Given the description of an element on the screen output the (x, y) to click on. 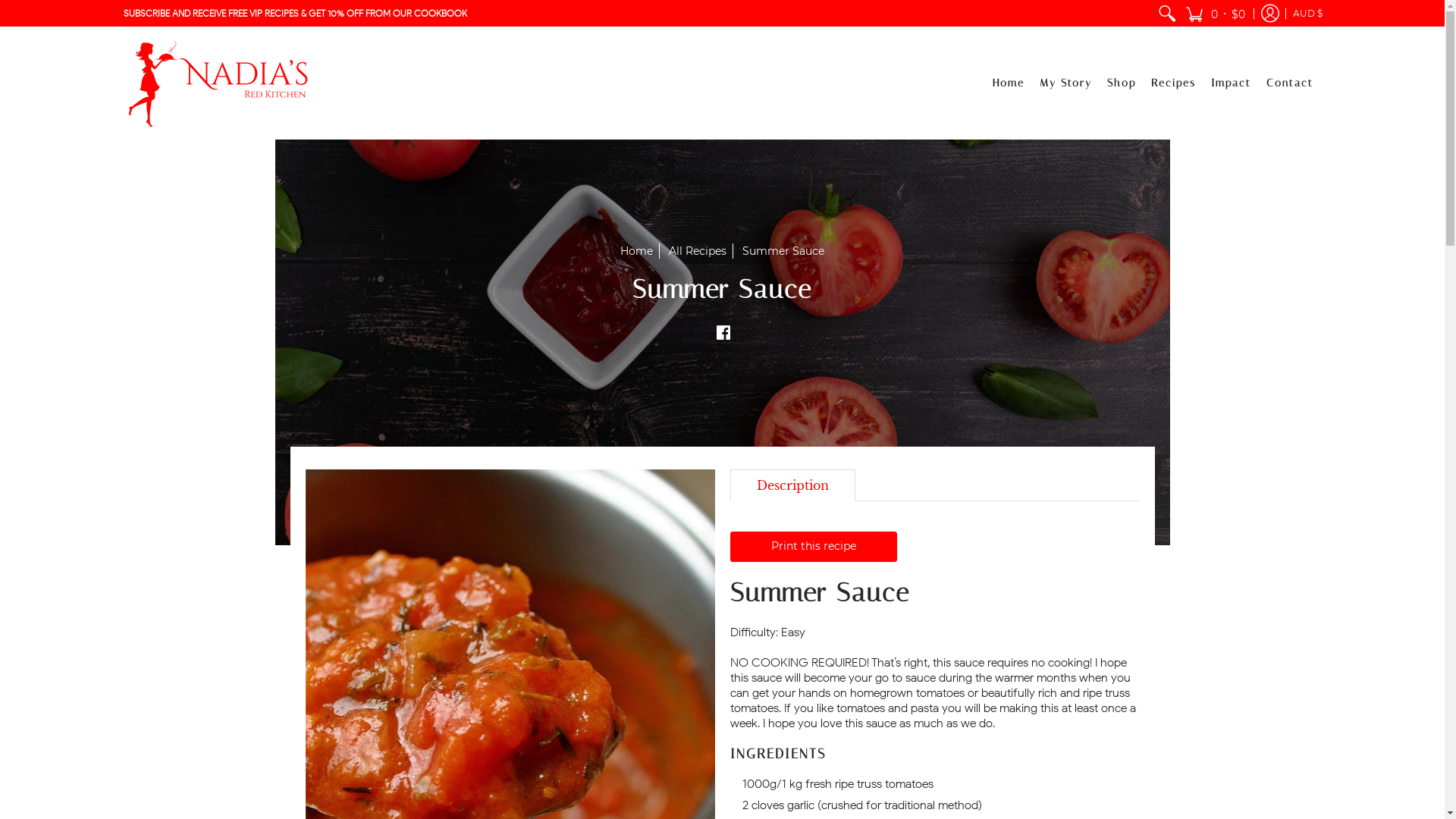
My Story Element type: text (1065, 82)
Search Element type: hover (1165, 13)
Nadia's Red Kitchen Element type: hover (217, 82)
Home Element type: text (1008, 82)
Shop Element type: text (1121, 82)
Contact Element type: text (1289, 82)
Impact Element type: text (1230, 82)
AUD $ Element type: text (1307, 13)
Print this recipe Element type: text (812, 546)
Description Element type: text (791, 485)
Home Element type: text (636, 250)
Log in Element type: hover (1270, 13)
Recipes Element type: text (1173, 82)
All Recipes Element type: text (697, 250)
